Given the description of an element on the screen output the (x, y) to click on. 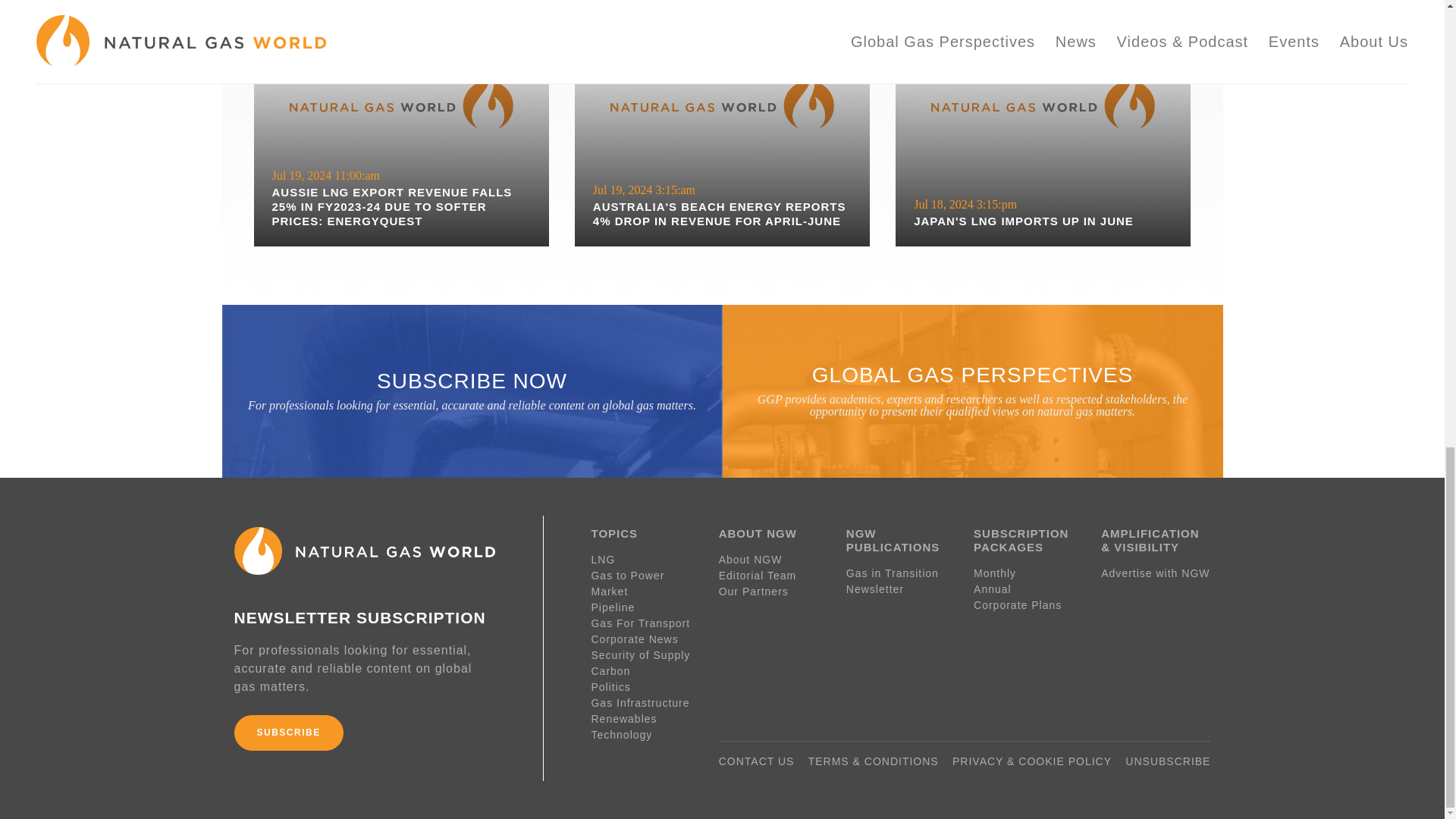
SUBSCRIBE (287, 732)
Gas to Power (645, 575)
LNG (1043, 135)
